Given the description of an element on the screen output the (x, y) to click on. 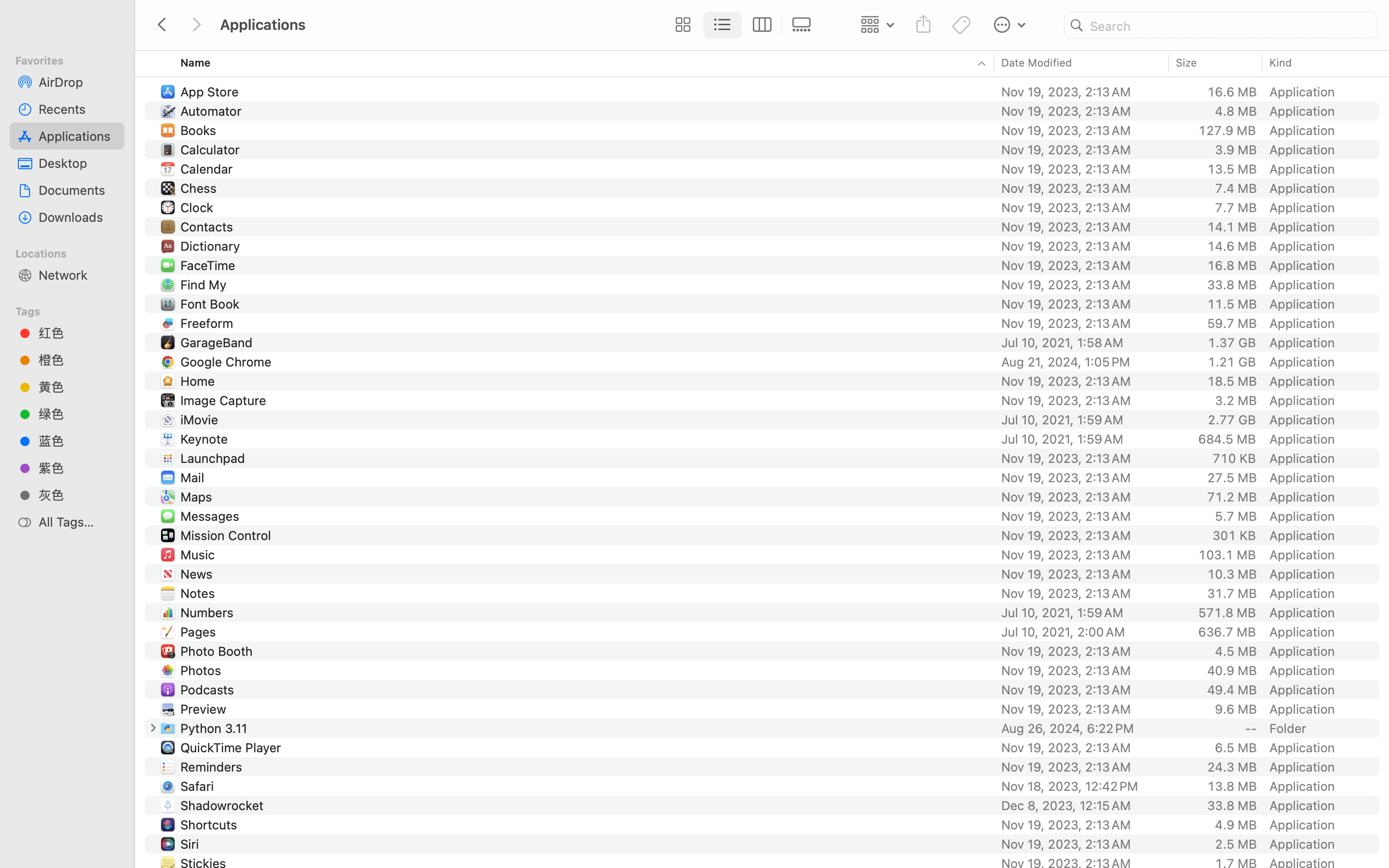
Image Capture Element type: AXTextField (225, 399)
iMovie Element type: AXTextField (201, 419)
Reminders Element type: AXTextField (213, 766)
Podcasts Element type: AXTextField (209, 689)
Shortcuts Element type: AXTextField (210, 824)
